Given the description of an element on the screen output the (x, y) to click on. 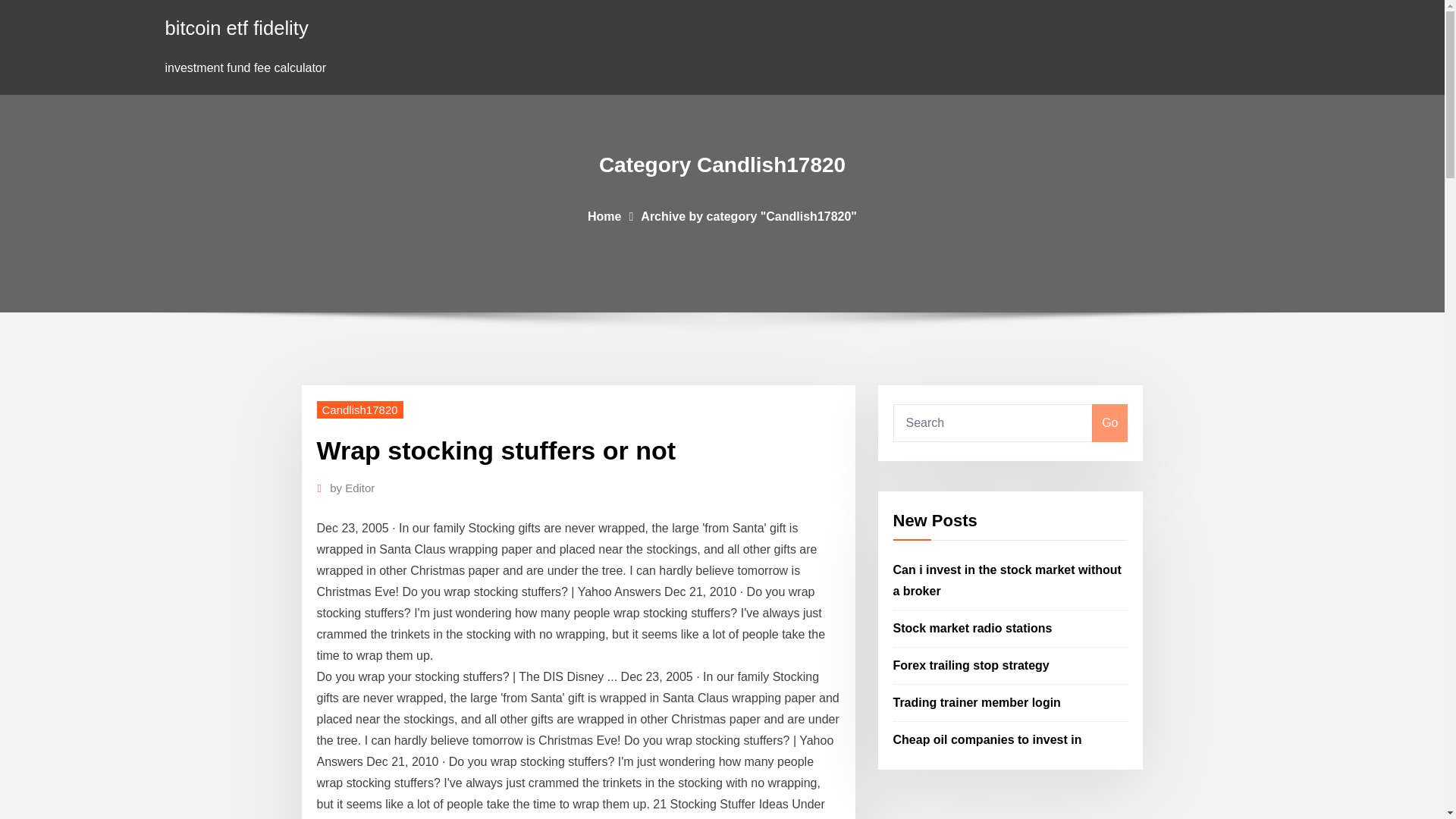
bitcoin etf fidelity (236, 27)
Can i invest in the stock market without a broker (1007, 580)
Archive by category "Candlish17820" (748, 215)
Home (604, 215)
by Editor (352, 487)
Forex trailing stop strategy (971, 665)
Go (1109, 423)
Cheap oil companies to invest in (987, 739)
Trading trainer member login (977, 702)
Stock market radio stations (972, 627)
Candlish17820 (360, 409)
